Given the description of an element on the screen output the (x, y) to click on. 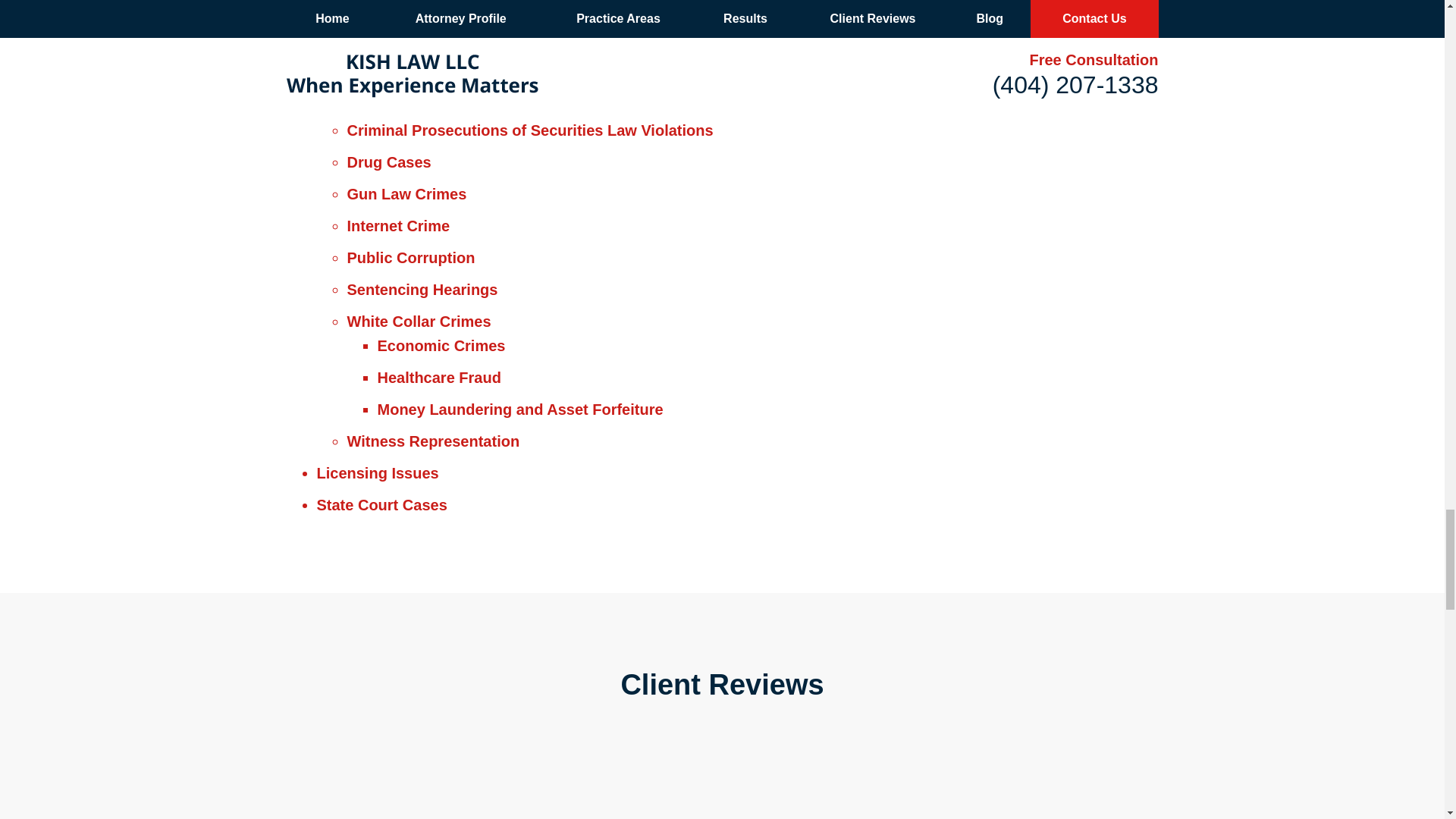
Criminal Tax Investigations and Prosecutions (481, 42)
Federal Crimes (371, 105)
Criminal Investigations (400, 10)
False Claims Act Cases (401, 74)
